Given the description of an element on the screen output the (x, y) to click on. 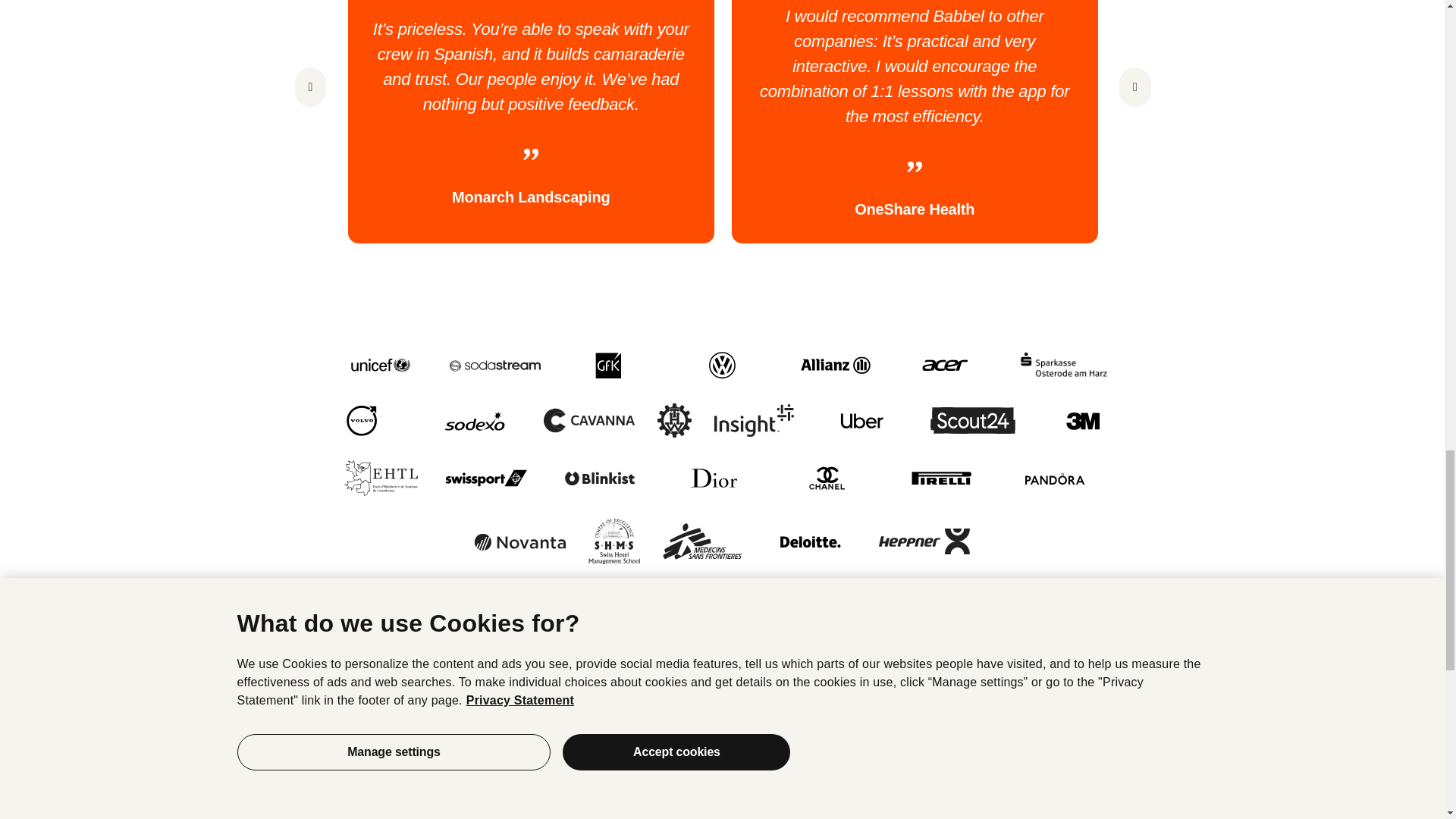
Blinklist Logo (599, 478)
